Given the description of an element on the screen output the (x, y) to click on. 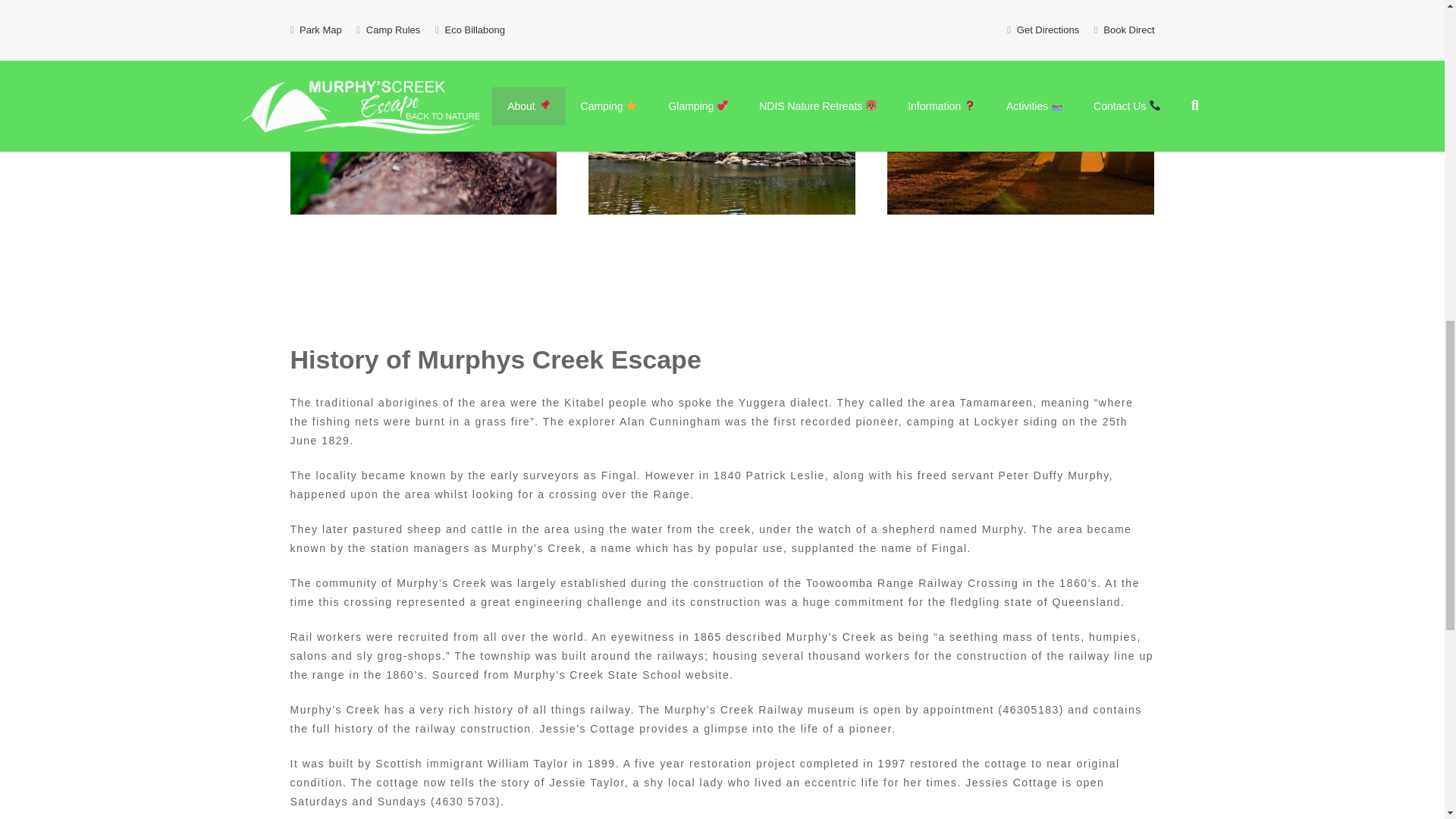
Back to top (1413, 22)
